Given the description of an element on the screen output the (x, y) to click on. 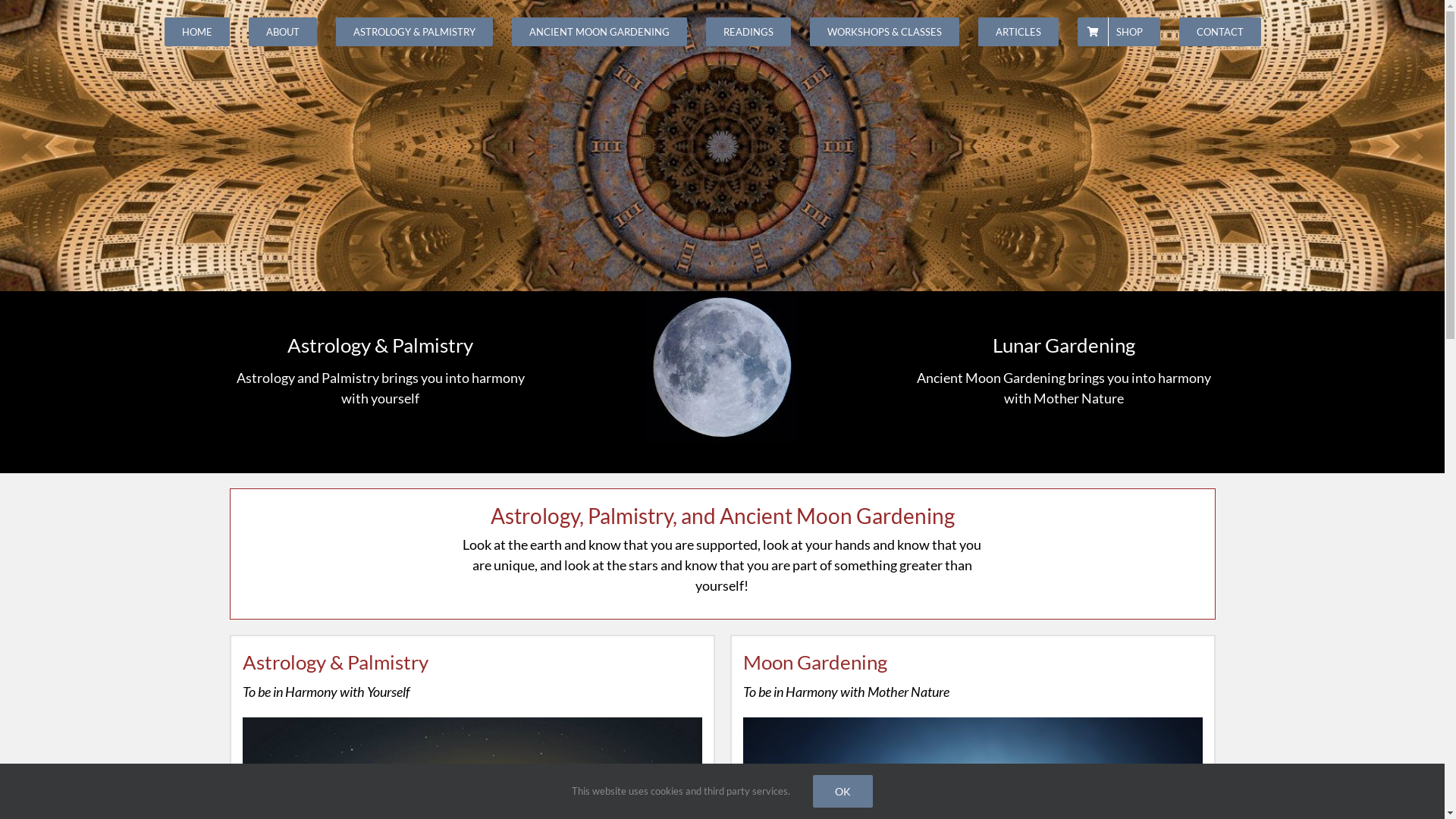
ANCIENT MOON GARDENING Element type: text (599, 31)
WORKSHOPS & CLASSES Element type: text (884, 31)
HOME Element type: text (196, 31)
READINGS Element type: text (748, 31)
CONTACT Element type: text (1220, 31)
ARTICLES Element type: text (1018, 31)
ABOUT Element type: text (282, 31)
OK Element type: text (842, 791)
ASTROLOGY & PALMISTRY Element type: text (413, 31)
SHOP Element type: text (1118, 31)
